Given the description of an element on the screen output the (x, y) to click on. 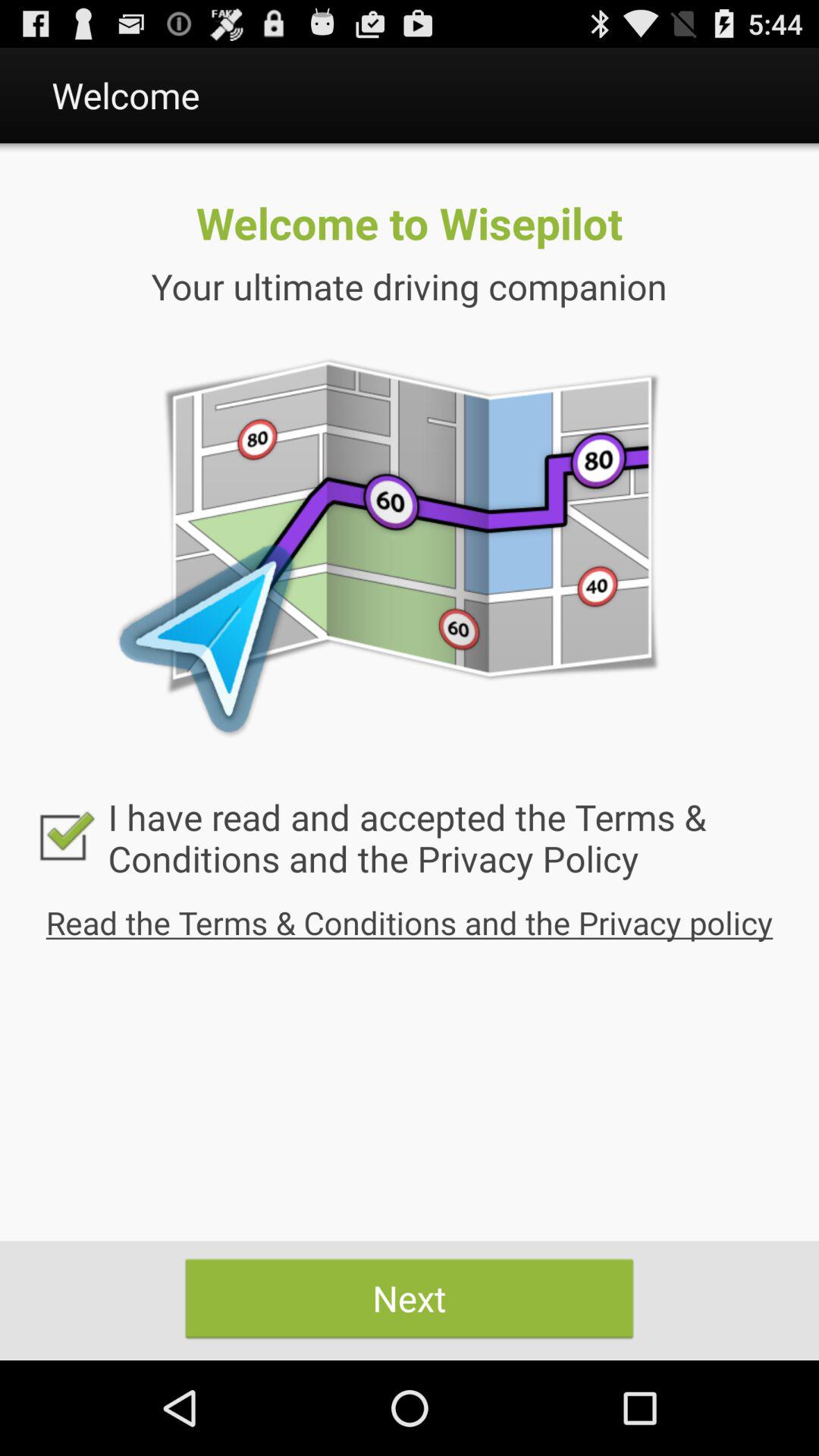
click item below the read the terms app (409, 1298)
